Given the description of an element on the screen output the (x, y) to click on. 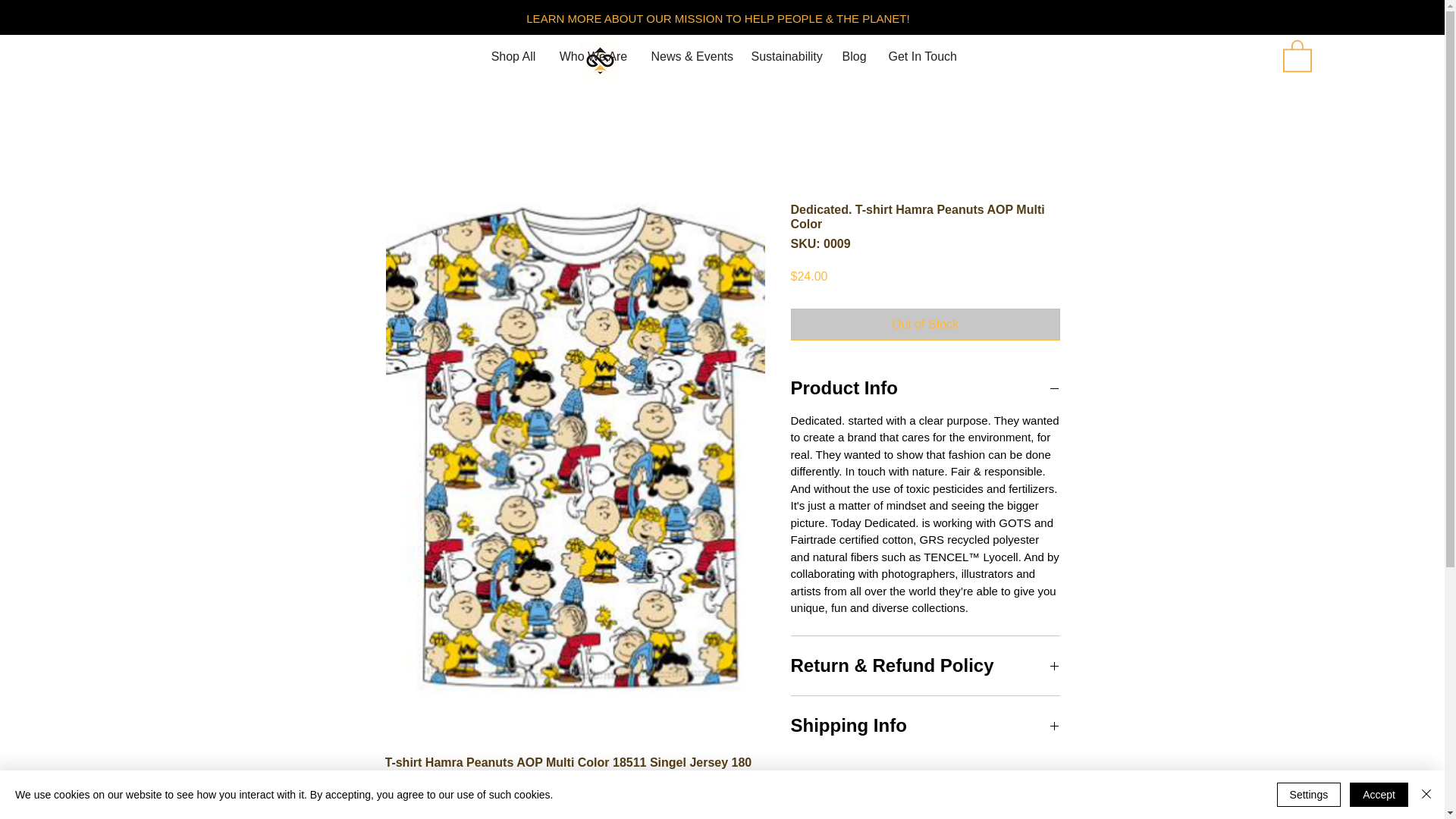
Settings (1308, 794)
Sustainability (785, 56)
Blog (854, 56)
Accept (1378, 794)
Shipping Info (924, 725)
Product Info (924, 387)
Get In Touch (919, 56)
Shop All (513, 56)
Who We Are (593, 56)
Out of Stock (924, 324)
